Given the description of an element on the screen output the (x, y) to click on. 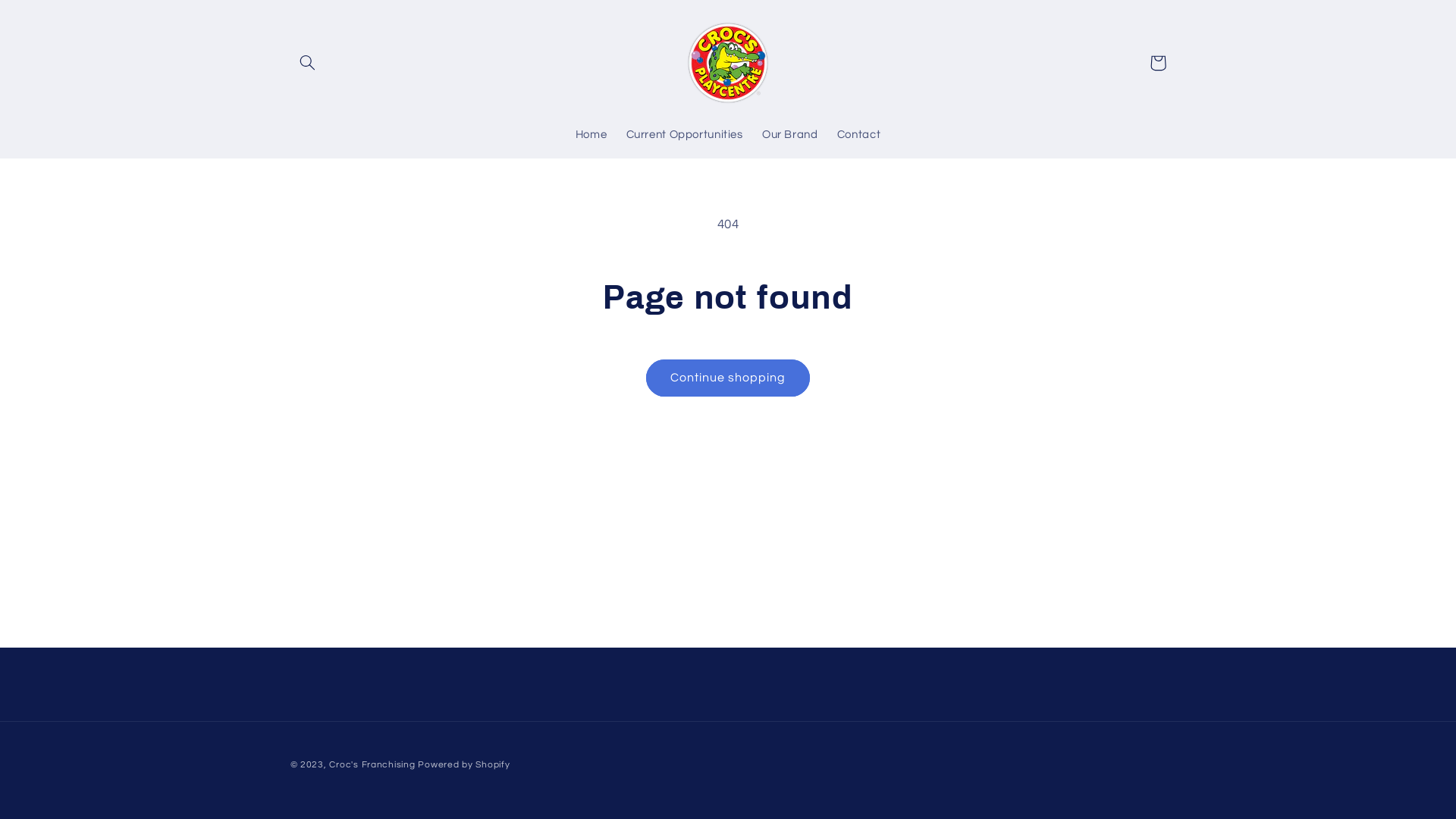
Powered by Shopify Element type: text (463, 764)
Current Opportunities Element type: text (684, 135)
Cart Element type: text (1157, 62)
Our Brand Element type: text (789, 135)
Croc's Franchising Element type: text (371, 764)
Contact Element type: text (858, 135)
Home Element type: text (590, 135)
Continue shopping Element type: text (727, 377)
